Given the description of an element on the screen output the (x, y) to click on. 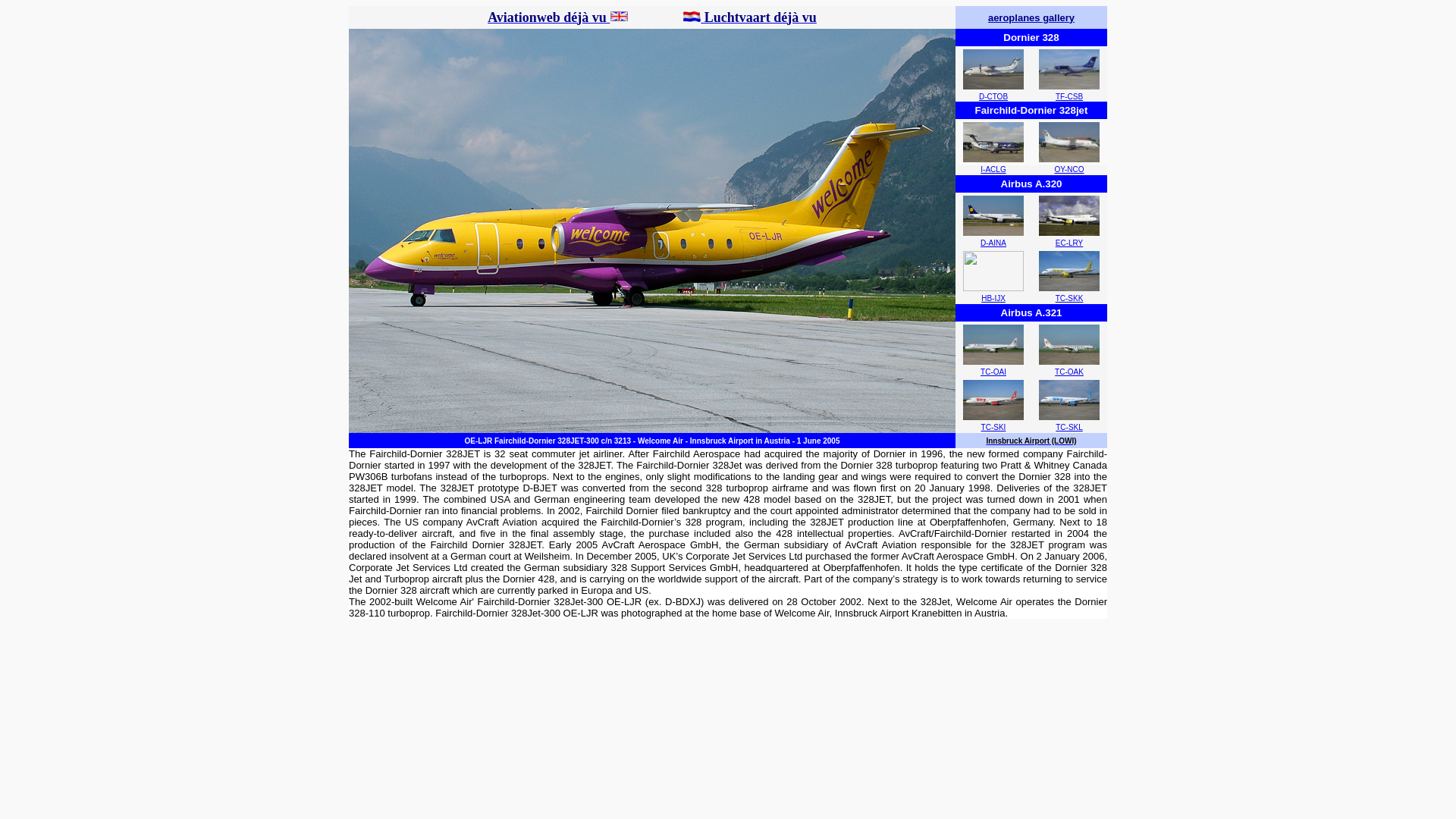
D-CTOB (992, 96)
EC-LRY (1069, 243)
I-ACLG (992, 169)
OY-NCO (1068, 169)
TC-OAK (1068, 371)
HB-IJX (993, 298)
TC-SKL (1069, 427)
D-AINA (992, 243)
aeroplanes gallery (1031, 17)
TC-SKK (1069, 298)
TC-SKI (993, 427)
TF-CSB (1069, 96)
TC-OAI (992, 371)
